Given the description of an element on the screen output the (x, y) to click on. 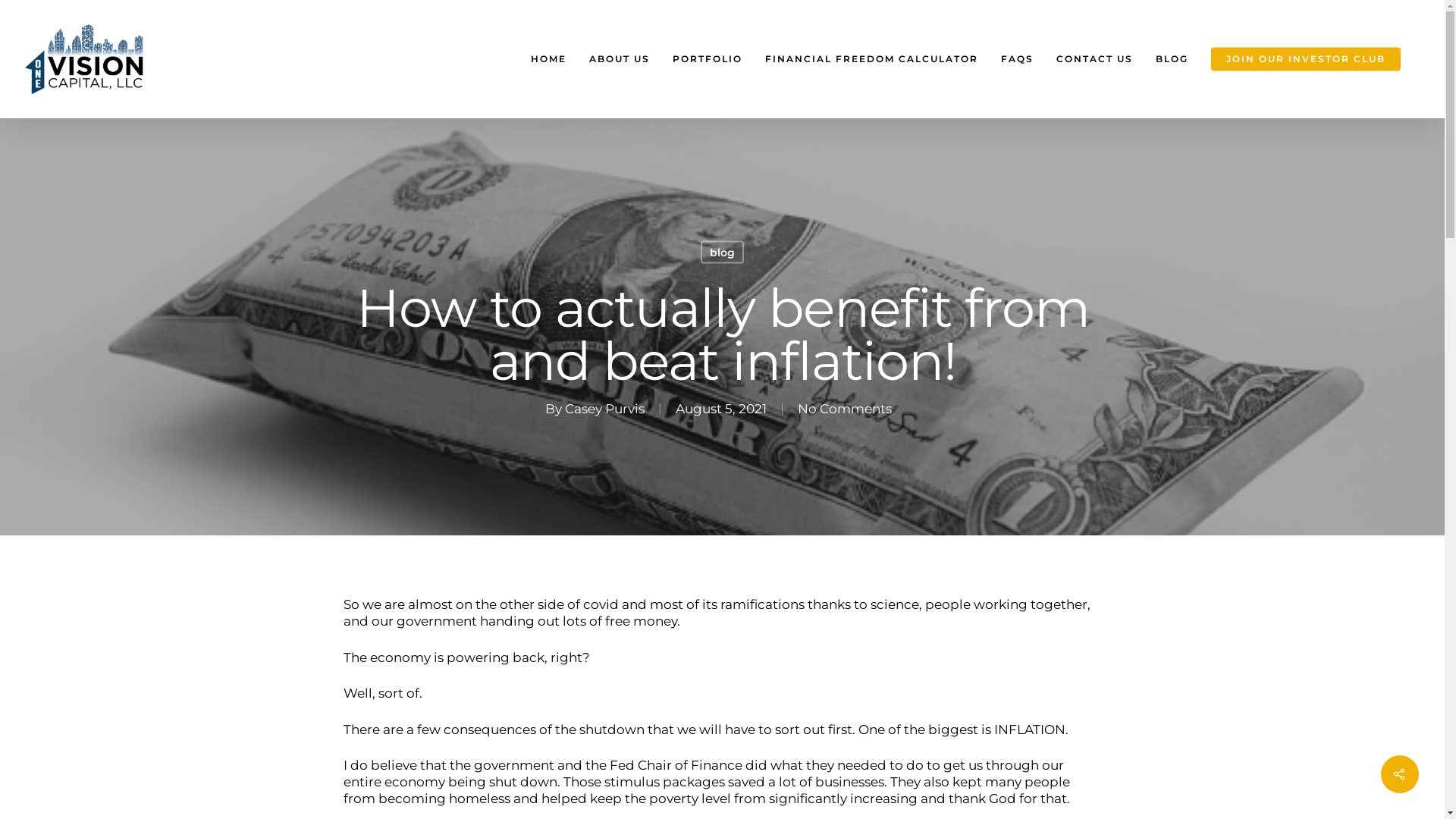
CONTACT US Element type: text (1094, 58)
FINANCIAL FREEDOM CALCULATOR Element type: text (871, 58)
Casey Purvis Element type: text (604, 407)
PORTFOLIO Element type: text (707, 58)
ABOUT US Element type: text (619, 58)
JOIN OUR INVESTOR CLUB Element type: text (1305, 58)
HOME Element type: text (548, 58)
blog Element type: text (721, 252)
No Comments Element type: text (844, 407)
BLOG Element type: text (1171, 58)
FAQS Element type: text (1016, 58)
